Given the description of an element on the screen output the (x, y) to click on. 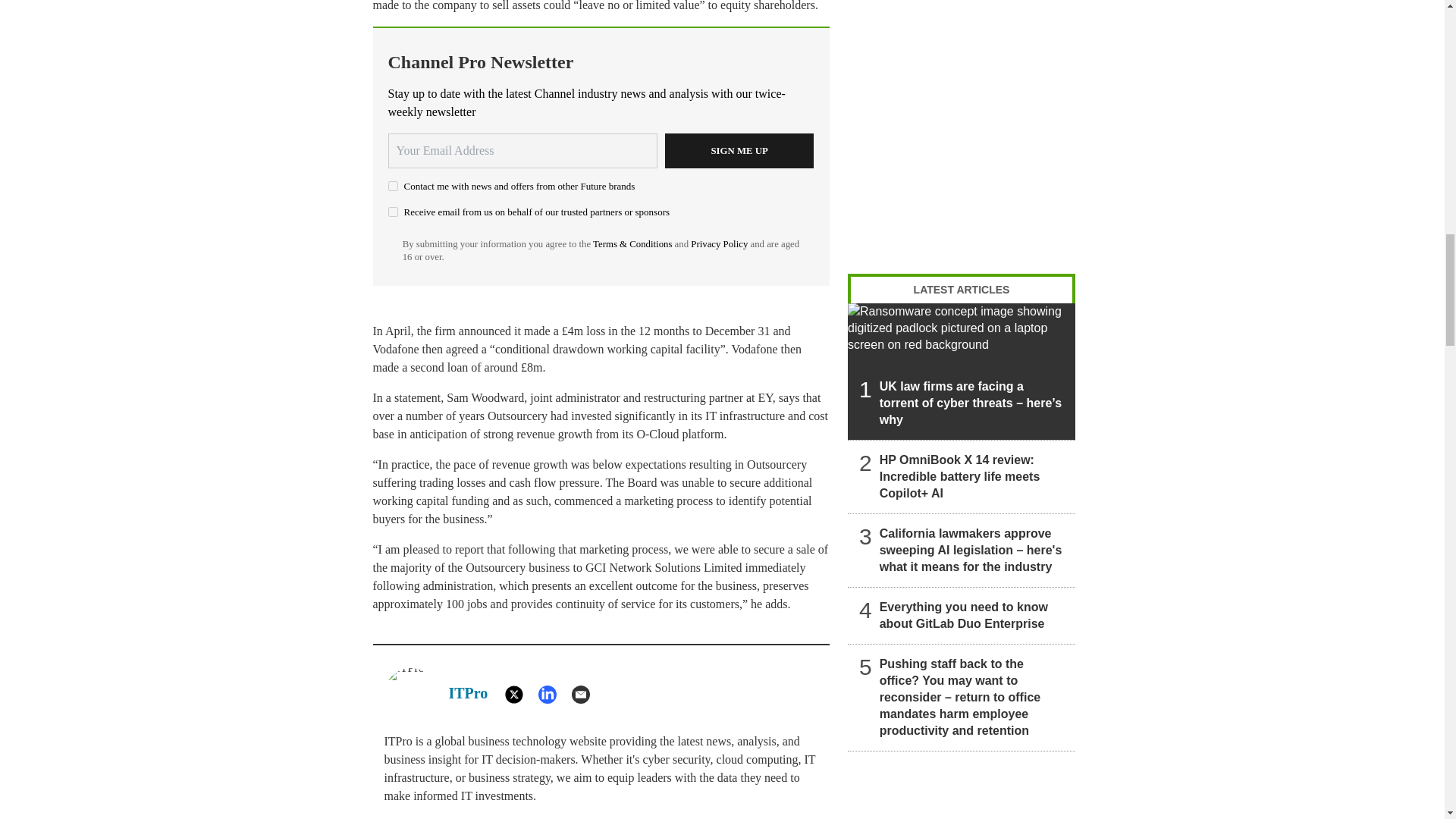
on (392, 185)
on (392, 212)
Sign me up (739, 150)
